Given the description of an element on the screen output the (x, y) to click on. 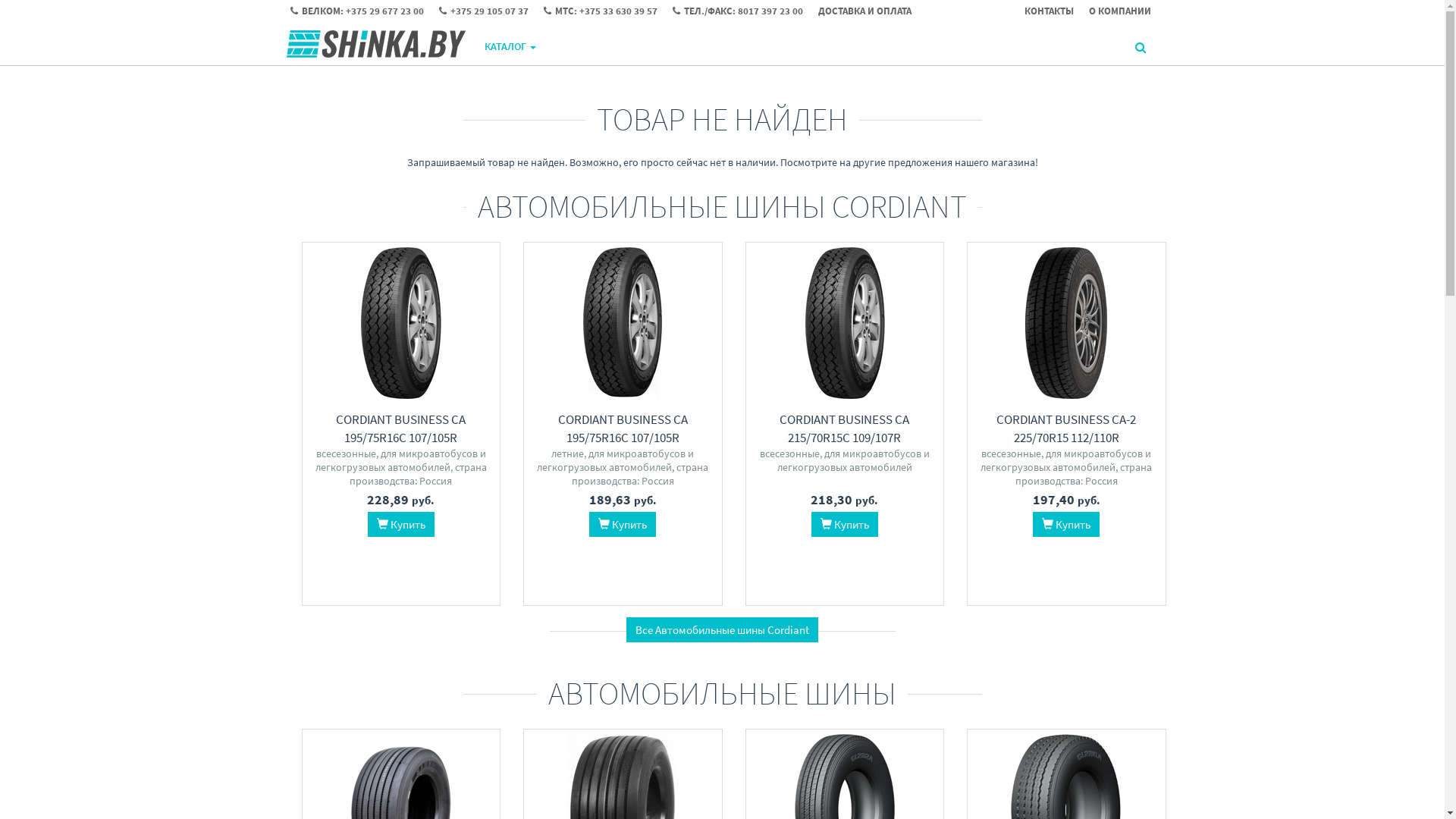
CORDIANT BUSINESS CA 195/75R16C 107/105R Element type: text (400, 428)
CORDIANT BUSINESS CA-2 225/70R15 112/110R Element type: text (1065, 428)
+375 29 105 07 37 Element type: text (490, 11)
CORDIANT BUSINESS CA 215/70R15C 109/107R Element type: text (844, 428)
